Given the description of an element on the screen output the (x, y) to click on. 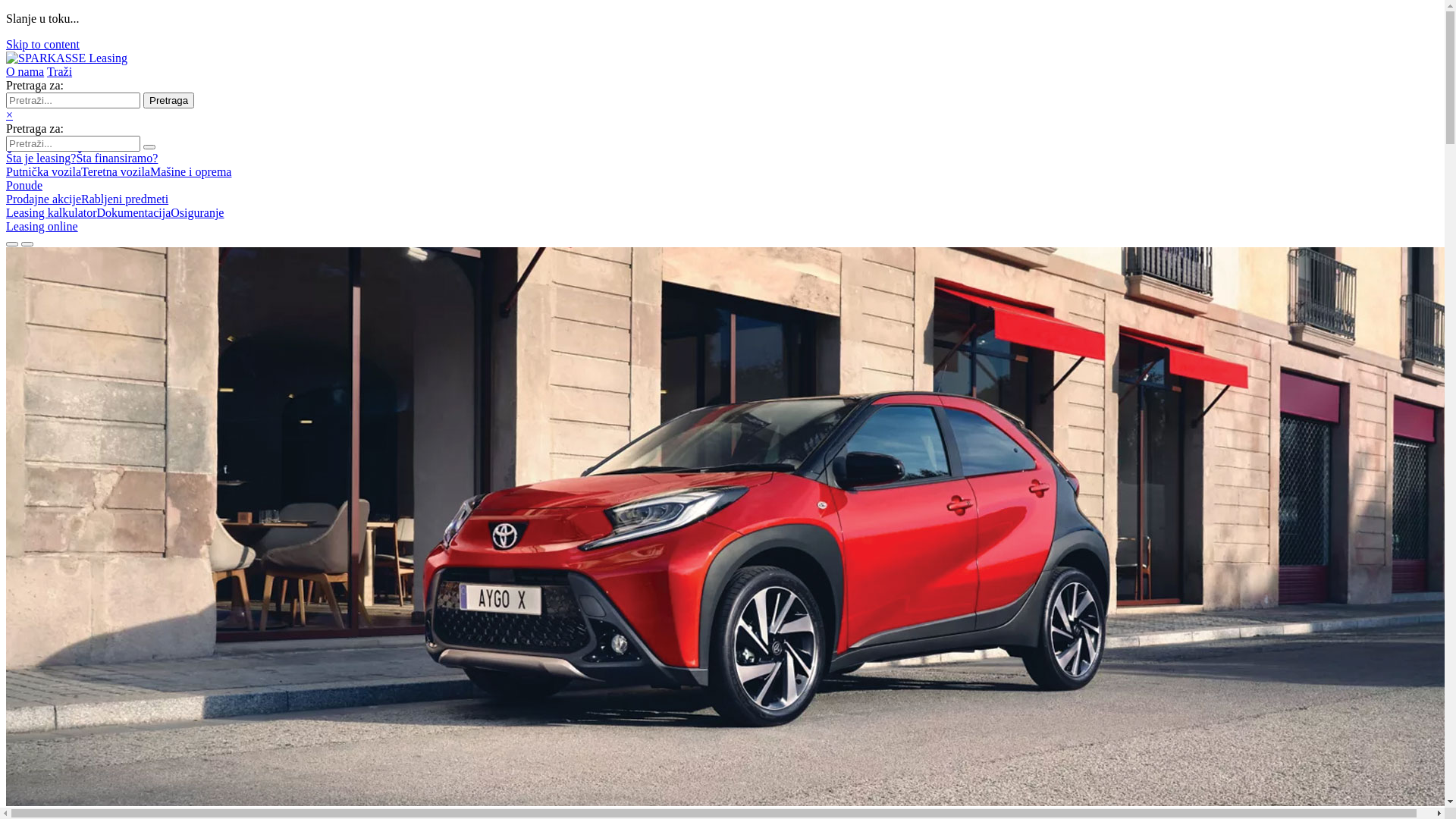
Skip to content Element type: text (42, 43)
Rabljeni predmeti Element type: text (124, 198)
Leasing kalkulator Element type: text (51, 212)
Leasing online Element type: text (42, 225)
Ponude Element type: text (24, 184)
Dokumentacija Element type: text (134, 212)
Pretraga Element type: text (168, 100)
O nama Element type: text (24, 71)
Osiguranje Element type: text (196, 212)
Teretna vozila Element type: text (115, 171)
Prodajne akcije Element type: text (43, 198)
